Given the description of an element on the screen output the (x, y) to click on. 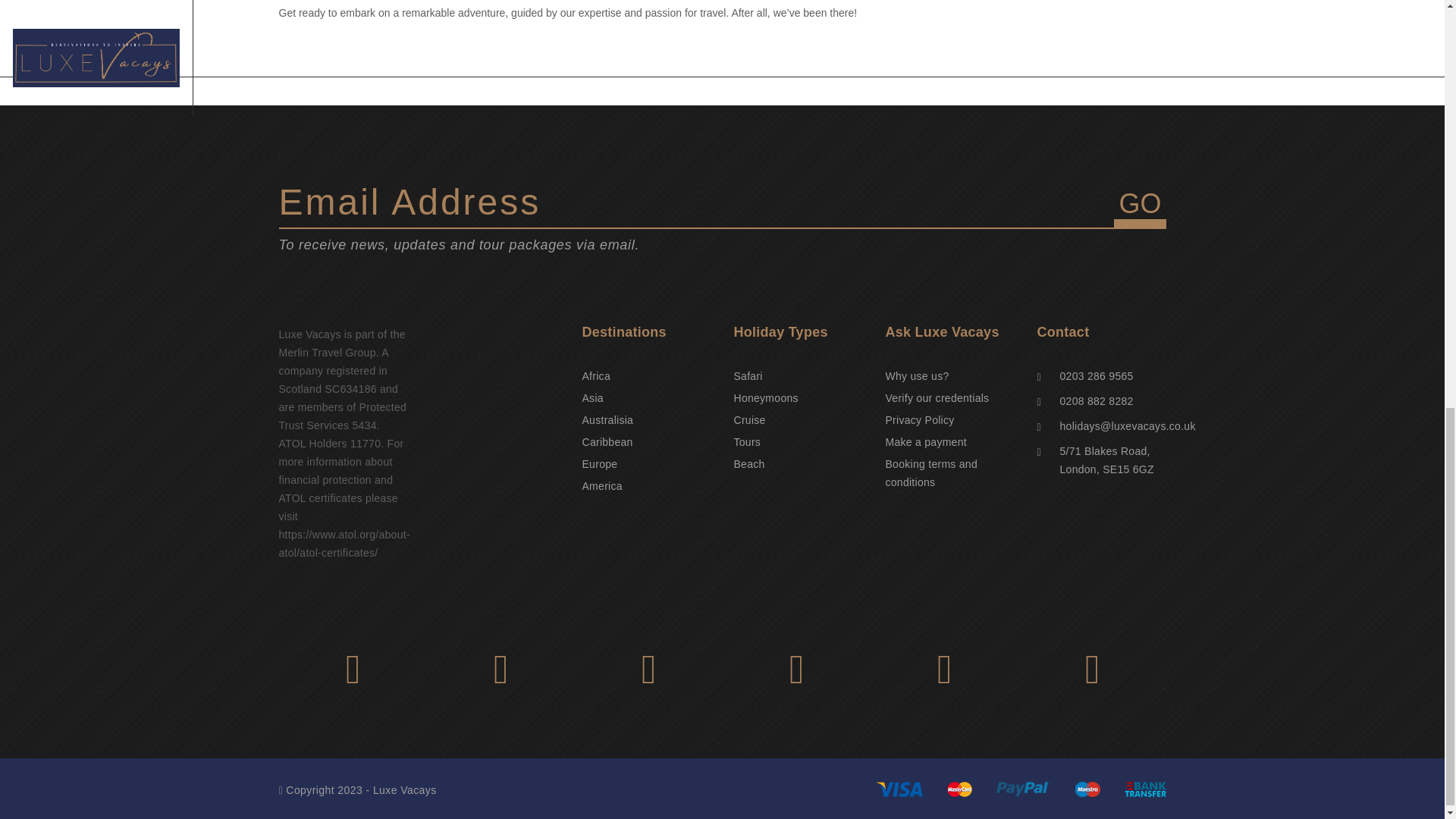
Destinations (646, 332)
Australisia (607, 419)
Safari (747, 376)
GO (1139, 208)
0208 882 8282 (1096, 400)
Verify our credentials (937, 398)
Make a payment (925, 441)
Tours (747, 441)
GO (1139, 208)
America (602, 485)
Cruise (749, 419)
Booking terms and conditions (931, 472)
Caribbean (607, 441)
Beach (749, 463)
Why use us? (917, 376)
